Given the description of an element on the screen output the (x, y) to click on. 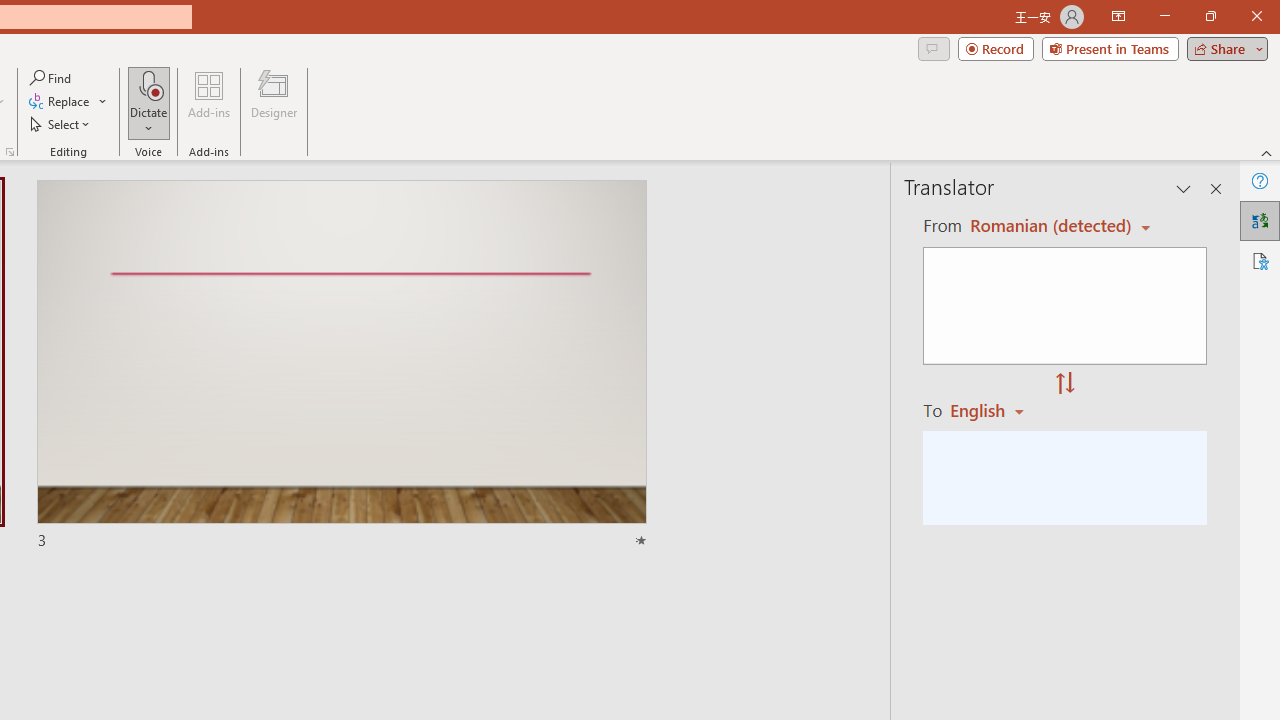
Select (61, 124)
Romanian (994, 409)
